Given the description of an element on the screen output the (x, y) to click on. 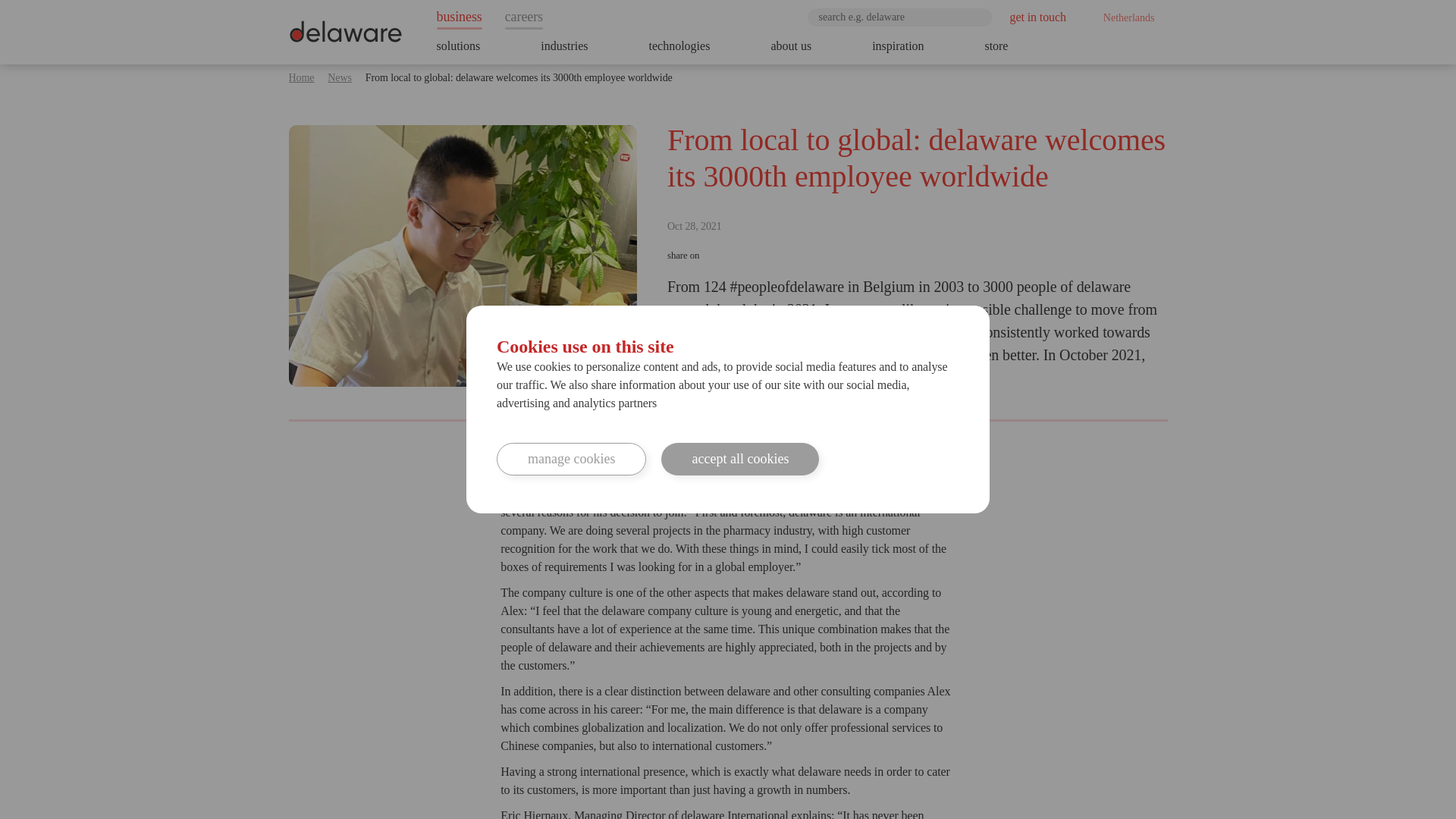
get in touch (1037, 16)
Netherlands (1124, 17)
